Given the description of an element on the screen output the (x, y) to click on. 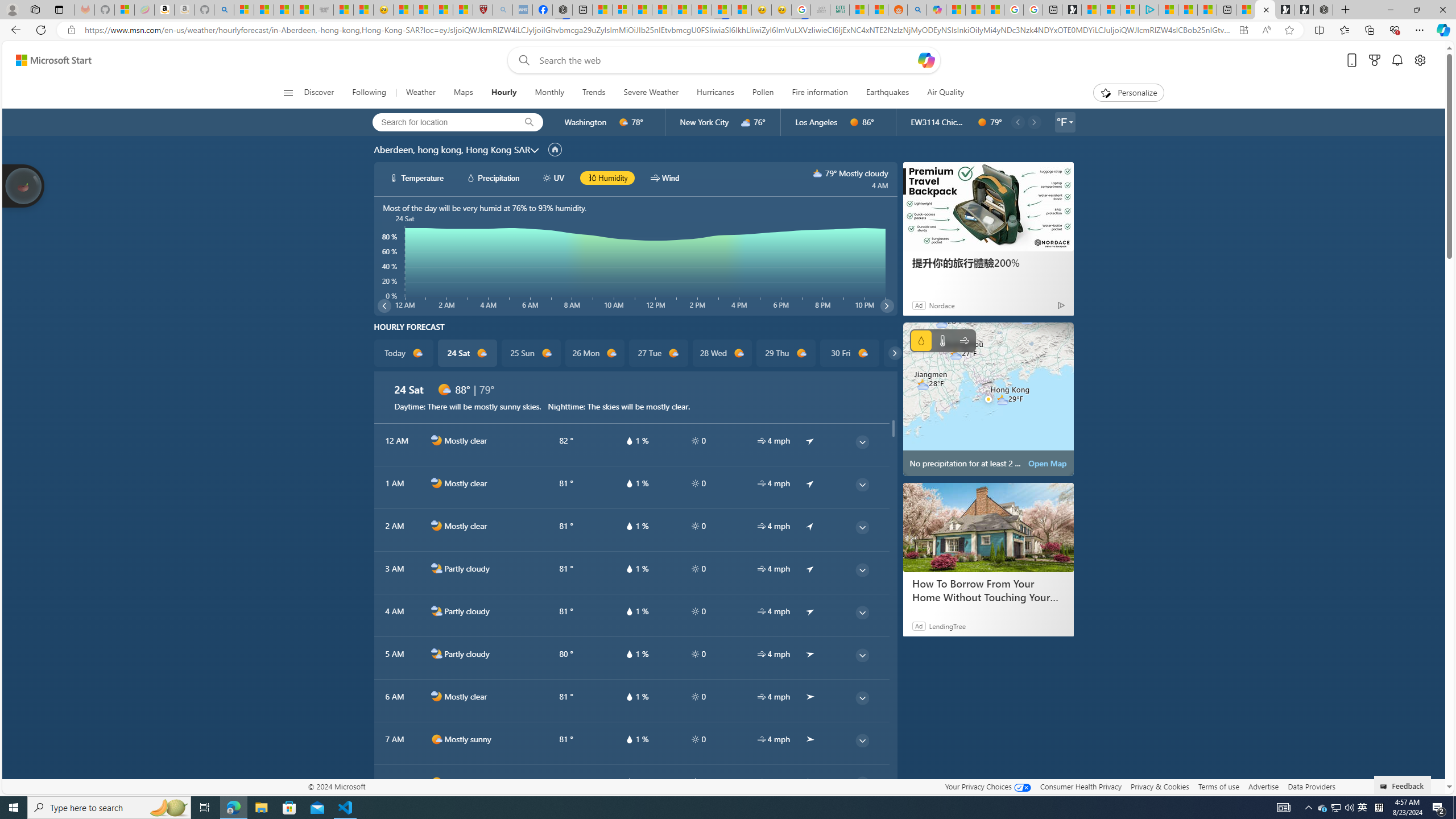
25 Sun d1000 (530, 352)
Today d1000 (403, 352)
hourlyChart/windWhite Wind (664, 178)
hourlyChart/windWhite (655, 177)
Severe Weather (651, 92)
